Given the description of an element on the screen output the (x, y) to click on. 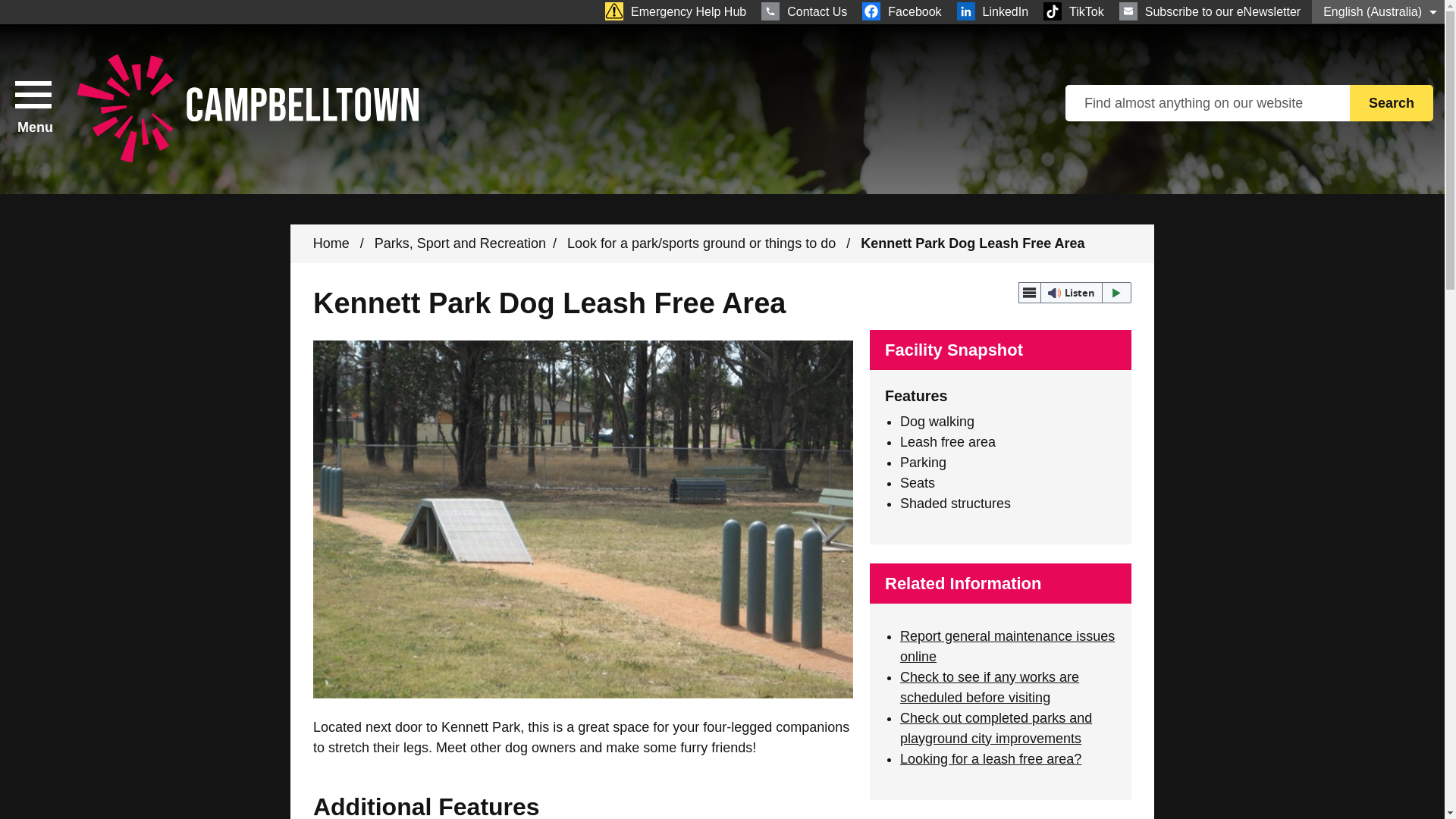
Search (1390, 103)
Emergency Help Hub (675, 11)
LinkedIn (992, 11)
TikTok (1073, 11)
Facebook (900, 11)
webReader menu (1029, 292)
Subscribe to our eNewsletter (32, 107)
Search (1209, 11)
Search (1390, 103)
Campbelltown City Council - Home - Logo (1390, 103)
Contact Us (248, 108)
Kennett Park Dog Leash Free Park - Glenfield (804, 11)
